Given the description of an element on the screen output the (x, y) to click on. 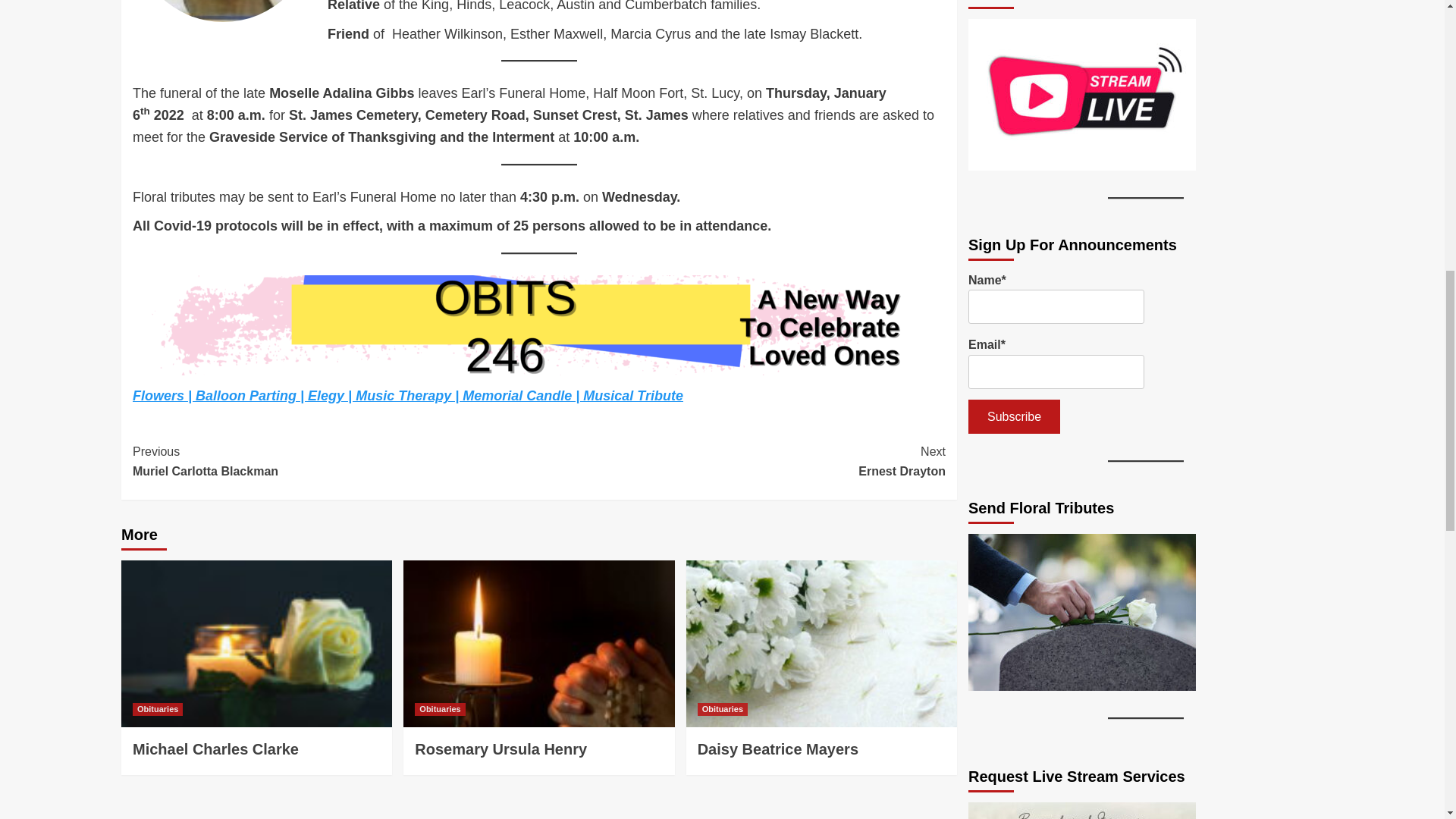
Obituaries (157, 708)
Subscribe (1013, 416)
Daisy Beatrice Mayers (778, 749)
Rosemary Ursula Henry (500, 749)
Obituaries (439, 708)
Obituaries (741, 461)
Subscribe (335, 461)
Michael Charles Clarke (722, 708)
